Given the description of an element on the screen output the (x, y) to click on. 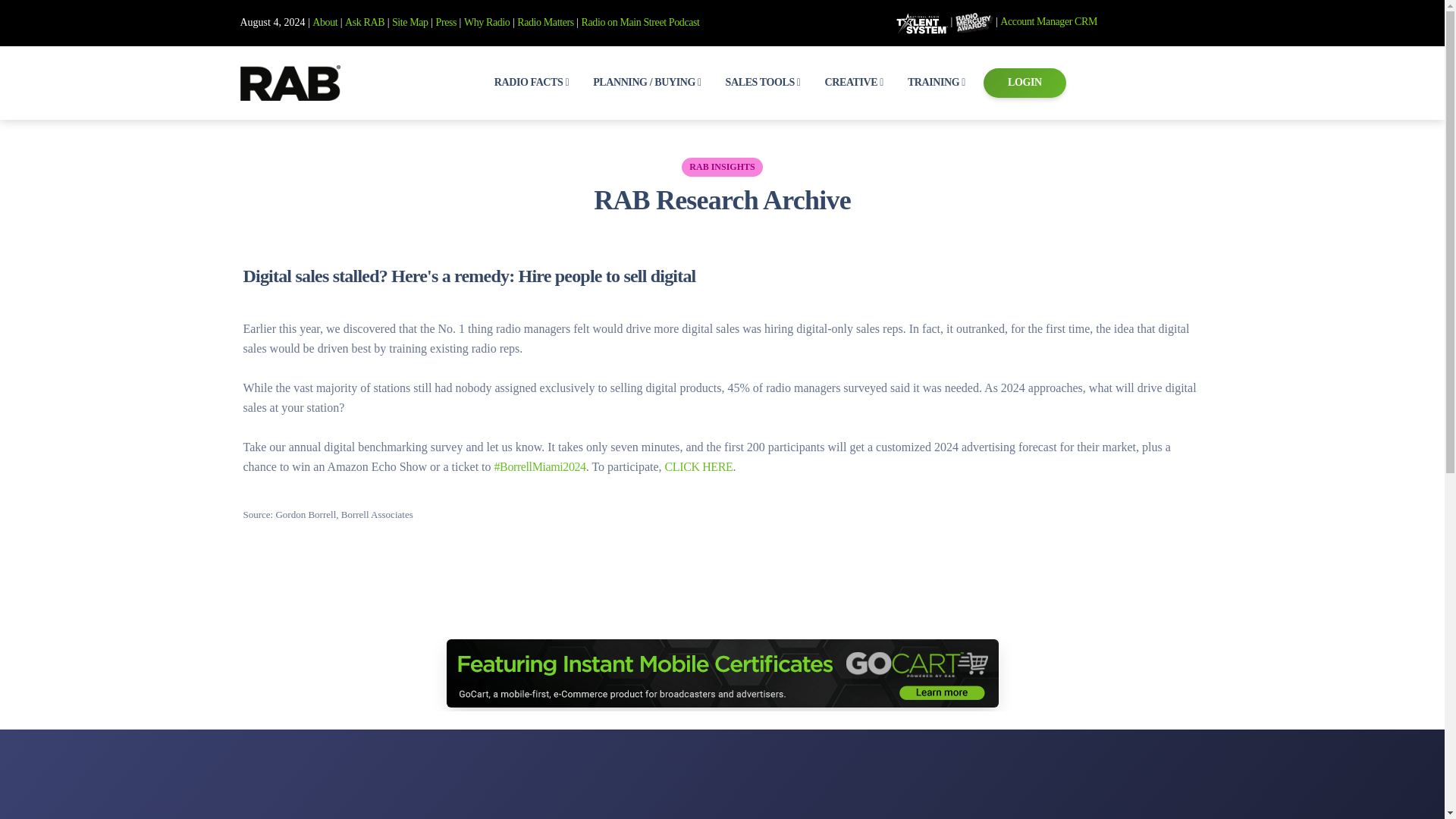
Press (446, 21)
Why Radio (487, 21)
Site Map (409, 21)
Account Manager CRM (1048, 21)
About (325, 21)
RADIO FACTS (531, 82)
Ask RAB (364, 21)
Radio on Main Street Podcast (640, 21)
Radio Matters (544, 21)
